Given the description of an element on the screen output the (x, y) to click on. 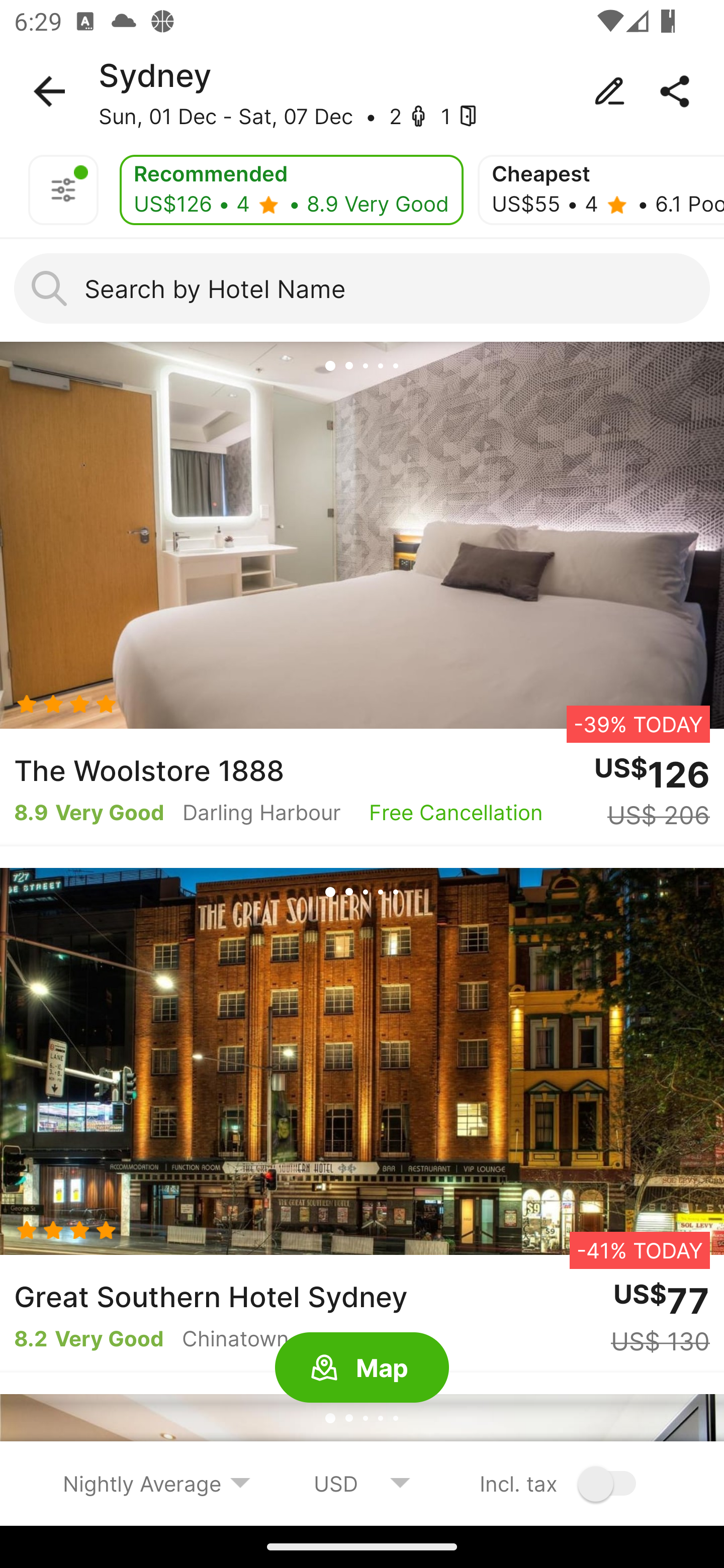
Sydney Sun, 01 Dec - Sat, 07 Dec  •  2 -  1 - (361, 91)
Recommended  US$126  • 4 - • 8.9 Very Good (291, 190)
Cheapest US$55  • 4 - • 6.1 Poor (600, 190)
Search by Hotel Name  (361, 288)
Map  (361, 1367)
Nightly Average (156, 1482)
USD (361, 1482)
